Given the description of an element on the screen output the (x, y) to click on. 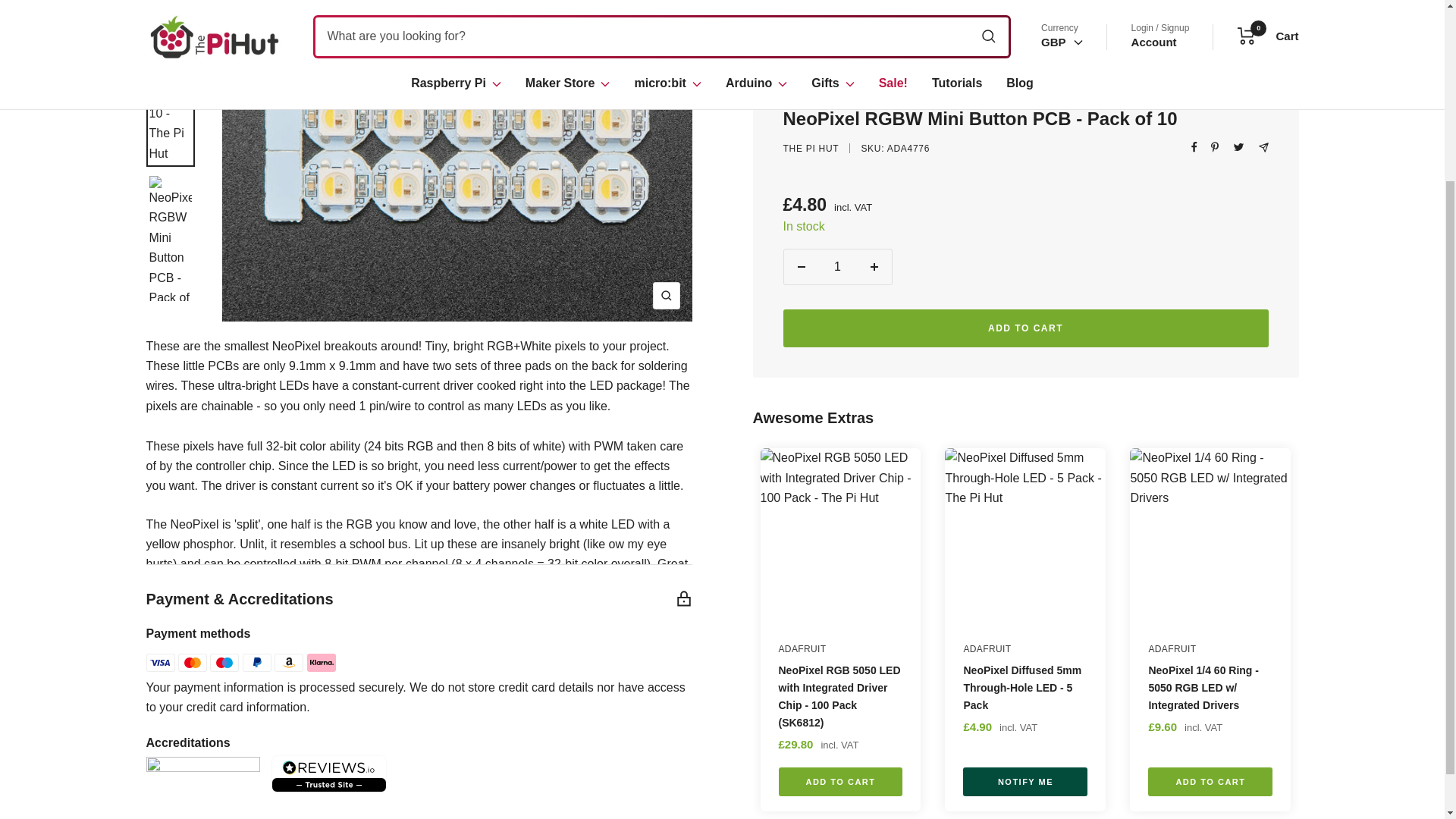
Maestro (223, 662)
Visa (159, 662)
1 (837, 157)
Mastercard (191, 662)
